Given the description of an element on the screen output the (x, y) to click on. 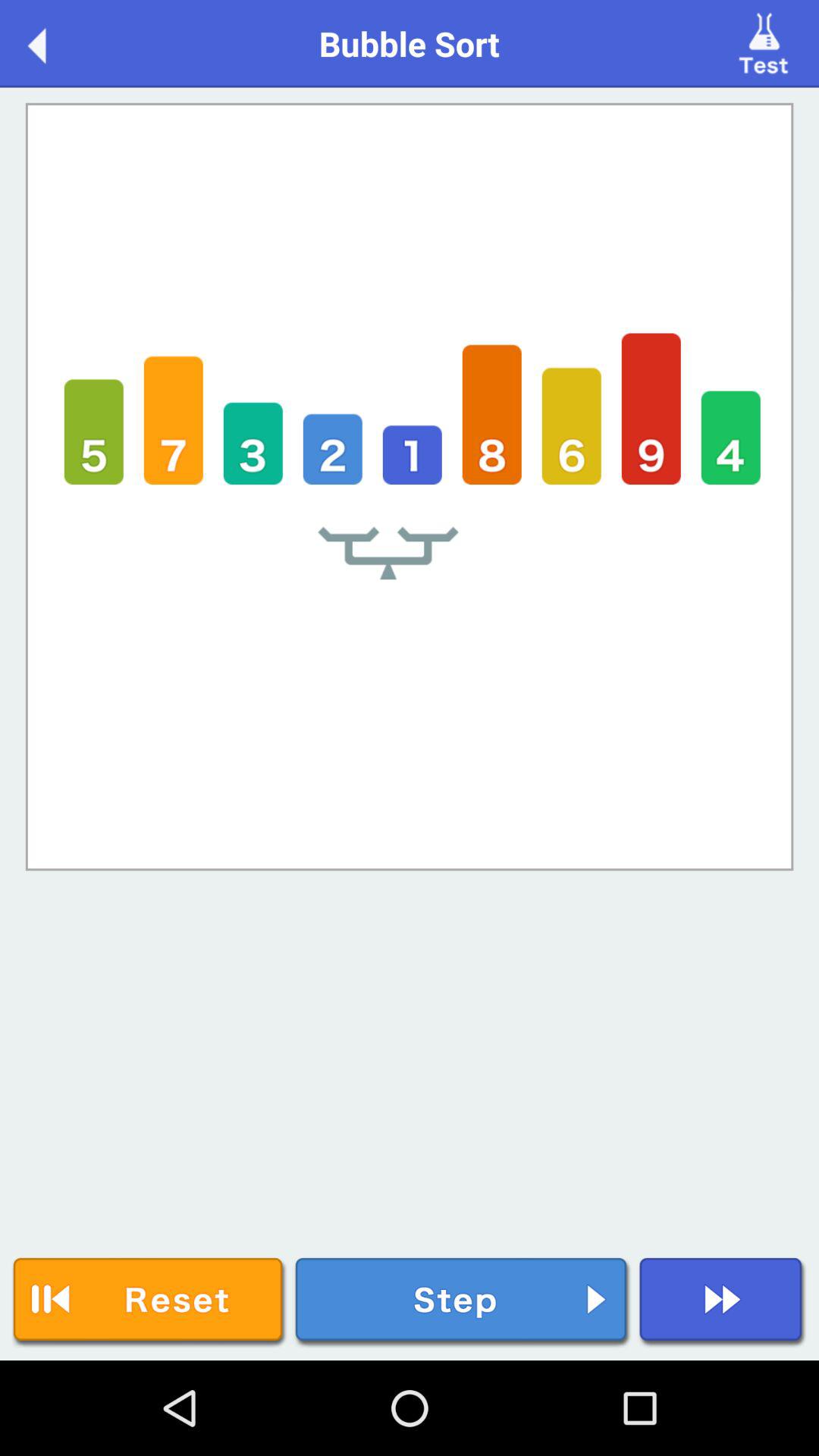
go back (52, 42)
